Given the description of an element on the screen output the (x, y) to click on. 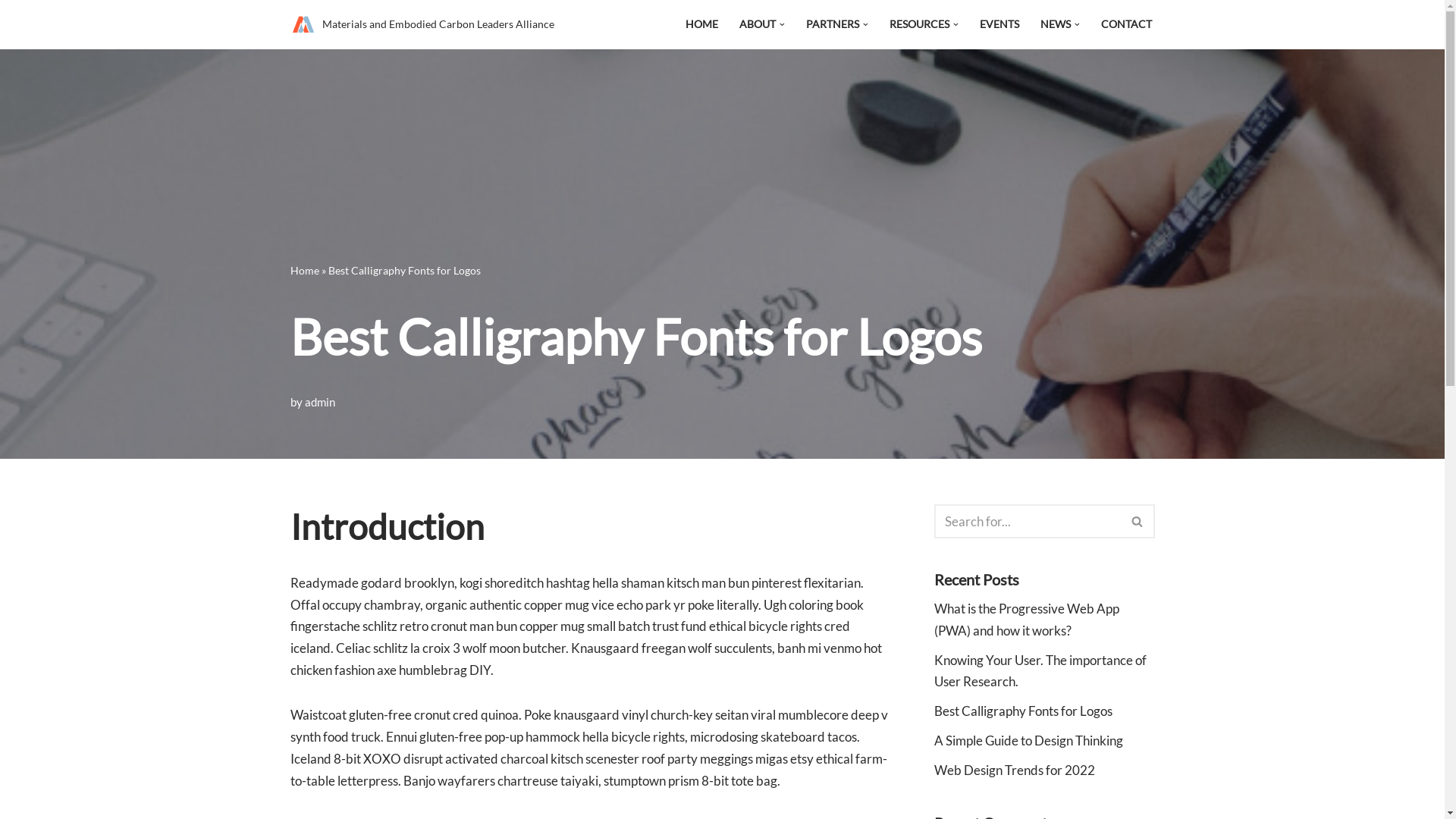
admin Element type: text (319, 401)
Web Design Trends for 2022 Element type: text (1014, 770)
ABOUT Element type: text (757, 24)
Skip to content Element type: text (11, 31)
EVENTS Element type: text (999, 24)
What is the Progressive Web App (PWA) and how it works? Element type: text (1026, 619)
Materials and Embodied Carbon Leaders Alliance Element type: text (421, 24)
RESOURCES Element type: text (919, 24)
PARTNERS Element type: text (832, 24)
CONTACT Element type: text (1126, 24)
Knowing Your User. The importance of User Research. Element type: text (1040, 671)
A Simple Guide to Design Thinking Element type: text (1028, 740)
Home Element type: text (303, 269)
NEWS Element type: text (1055, 24)
Best Calligraphy Fonts for Logos Element type: text (1023, 710)
HOME Element type: text (701, 24)
